Given the description of an element on the screen output the (x, y) to click on. 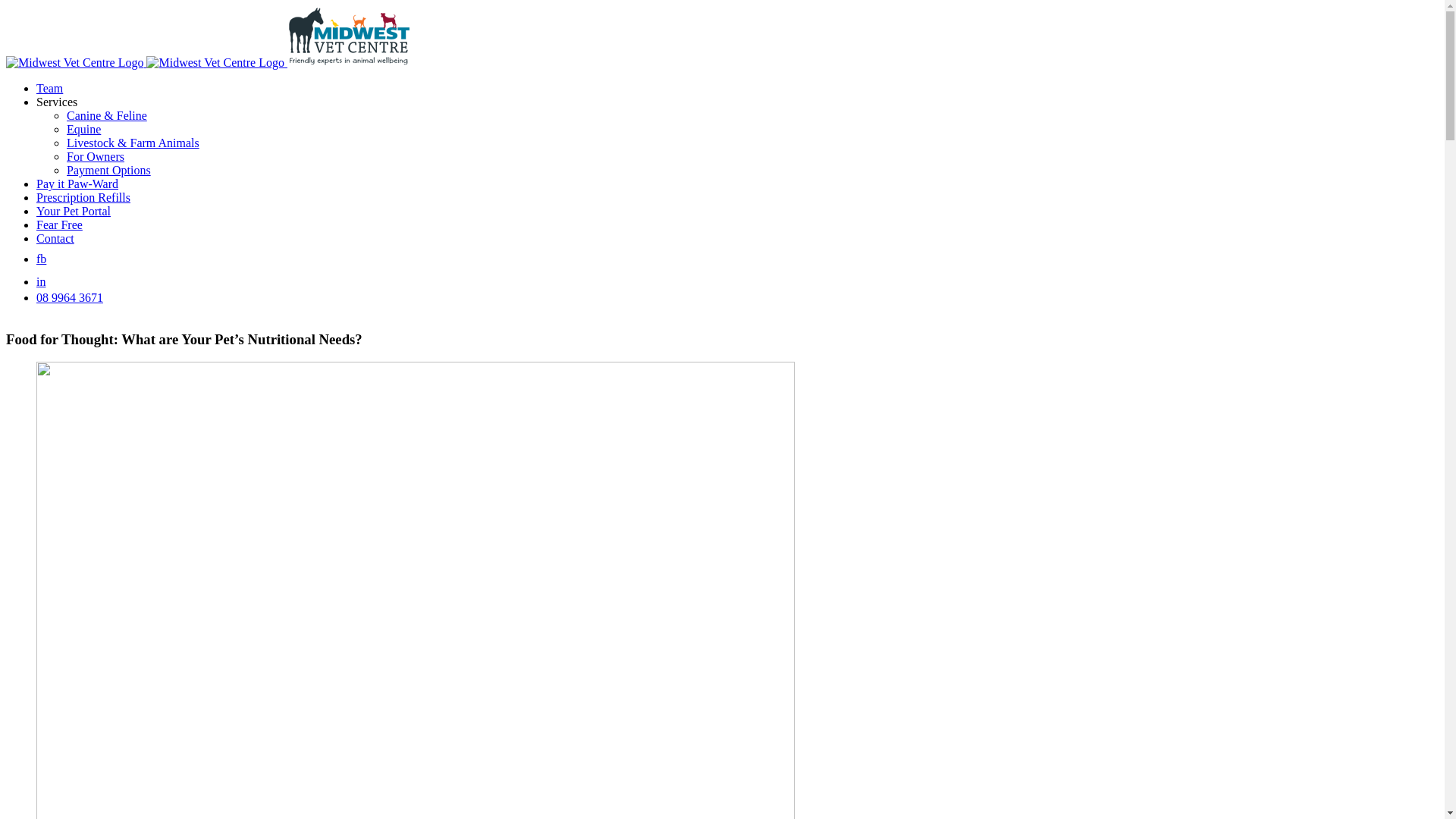
08 9964 3671 Element type: text (69, 297)
Your Pet Portal Element type: text (73, 210)
Payment Options Element type: text (108, 169)
Contact Element type: text (55, 238)
Services Element type: text (56, 101)
Pay it Paw-Ward Element type: text (77, 183)
Livestock & Farm Animals Element type: text (132, 142)
For Owners Element type: text (95, 156)
fb Element type: text (41, 258)
Equine Element type: text (83, 128)
Prescription Refills Element type: text (83, 197)
Team Element type: text (49, 87)
in Element type: text (40, 281)
Fear Free Element type: text (59, 224)
Skip to content Element type: text (5, 5)
Canine & Feline Element type: text (106, 115)
